Given the description of an element on the screen output the (x, y) to click on. 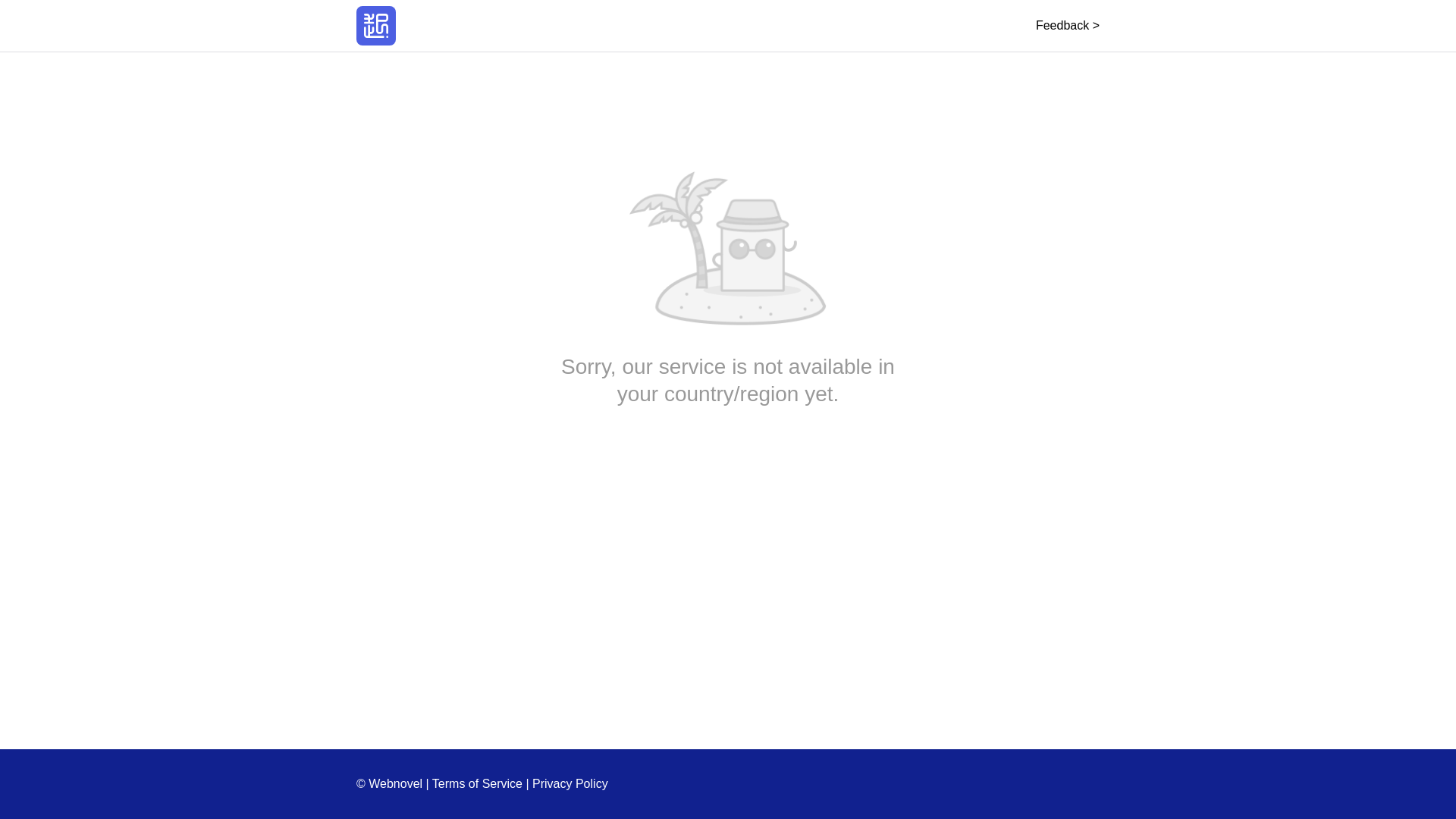
Privacy Policy (570, 783)
Terms of Service (477, 783)
Privacy Policy (570, 783)
Webnovel (376, 25)
Feedback (1067, 24)
Webnovel (376, 25)
Terms of Service (477, 783)
